Given the description of an element on the screen output the (x, y) to click on. 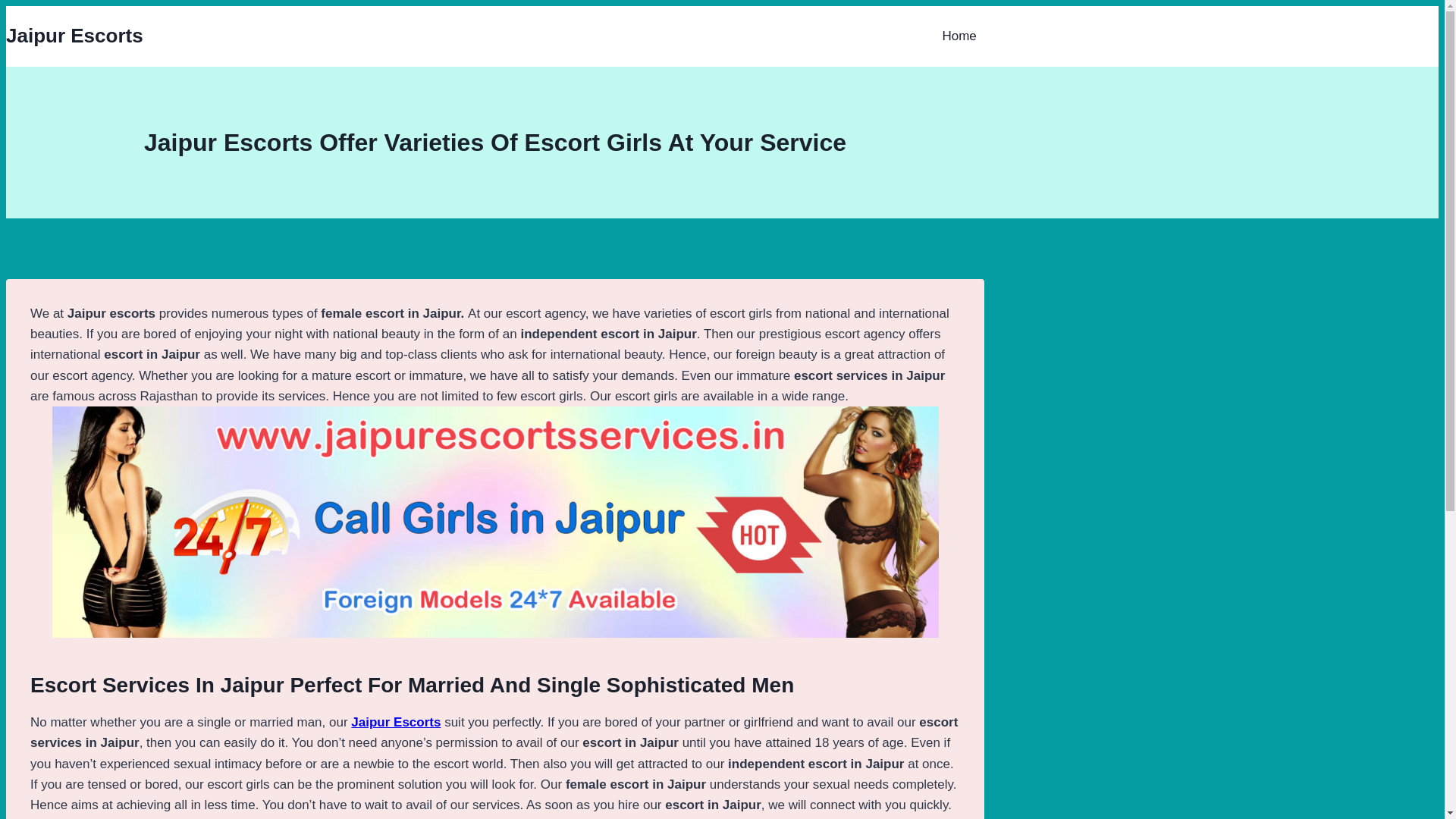
Jaipur Escorts (395, 721)
Home (966, 36)
Jaipur Escorts (73, 35)
